Given the description of an element on the screen output the (x, y) to click on. 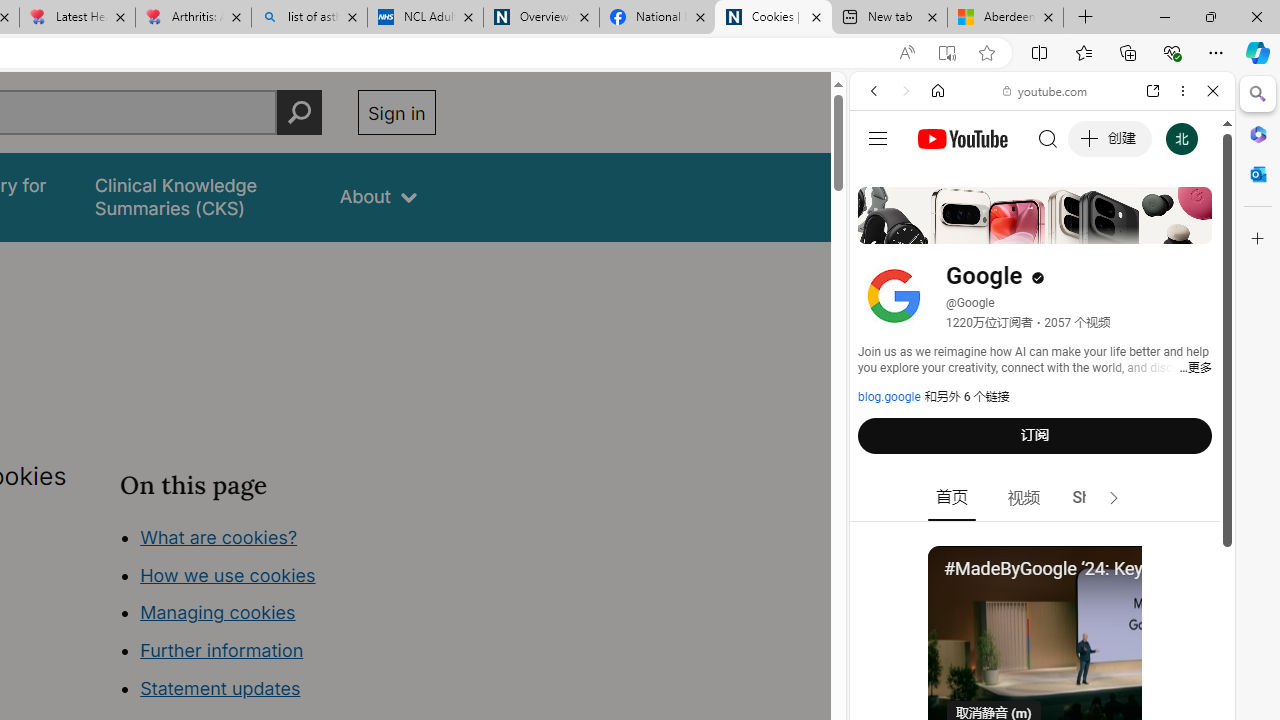
What are cookies? (218, 536)
Sign in (396, 112)
Cookies | About | NICE (772, 17)
VIDEOS (1006, 228)
Search Filter, IMAGES (939, 228)
youtube.com (1046, 90)
Class: in-page-nav__list (277, 615)
Search Filter, VIDEOS (1006, 228)
